Given the description of an element on the screen output the (x, y) to click on. 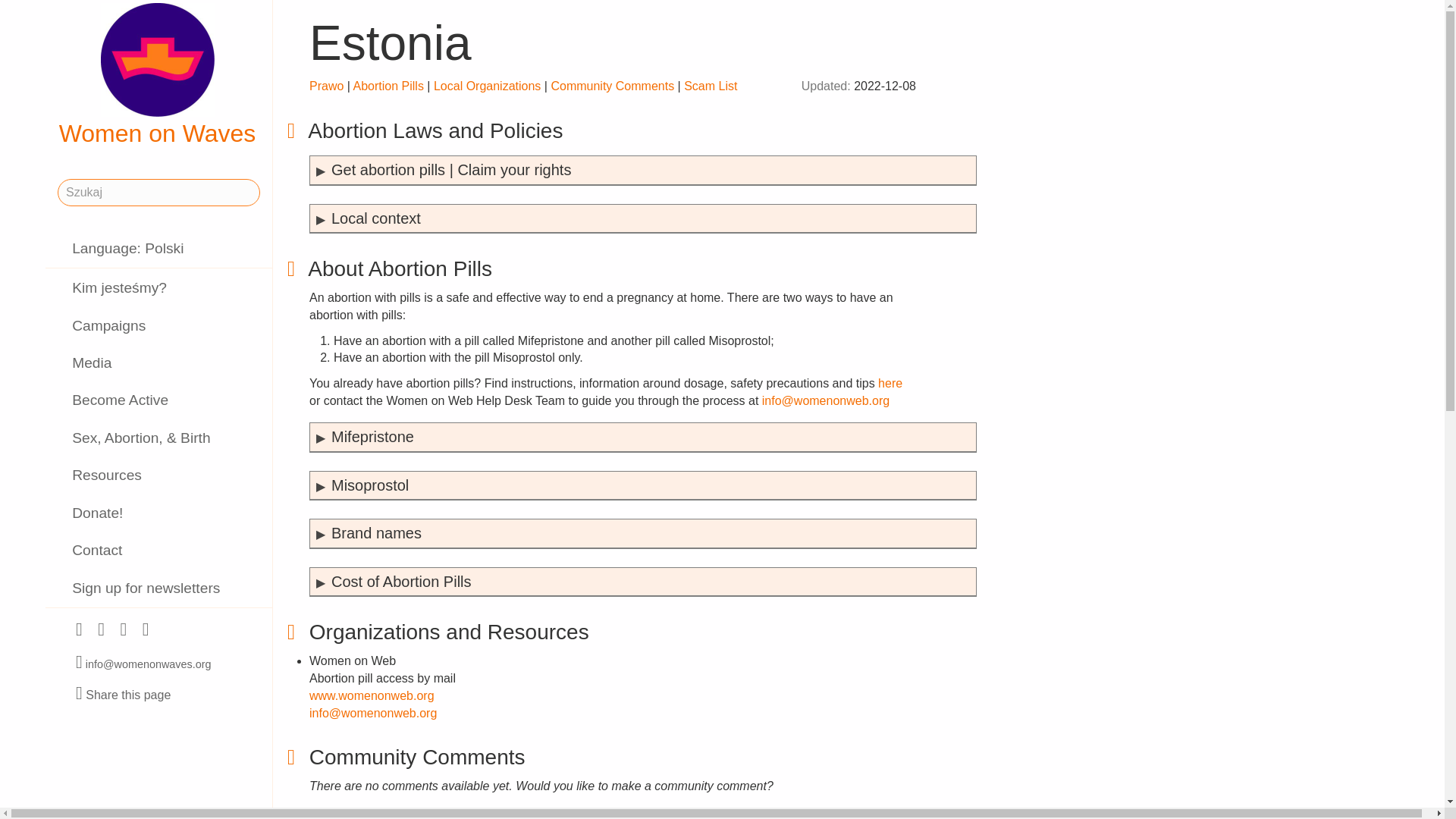
Donate! (158, 512)
Community Comments (612, 85)
www.womenonweb.org (370, 695)
Campaigns (158, 325)
Share this page (122, 694)
here (889, 382)
Obserwuj nas na Twitter (100, 630)
Scam List (710, 85)
Sign up for newsletters (158, 588)
Become Active (158, 399)
